Given the description of an element on the screen output the (x, y) to click on. 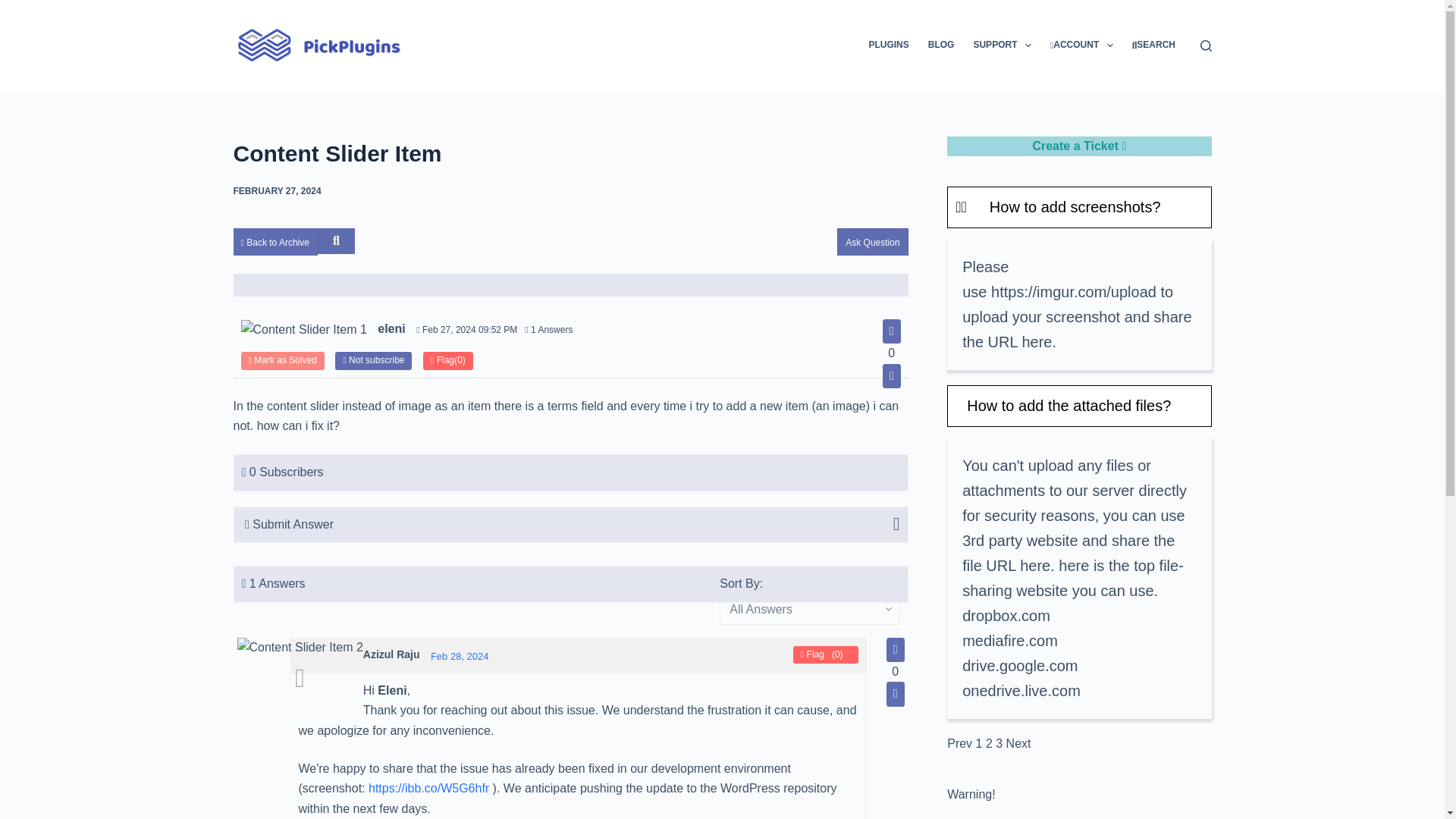
Feb 28, 2024 11:22 AM (459, 655)
Choose best answer (298, 679)
ACCOUNT (1081, 45)
Content Slider Item 1 (303, 329)
Skip to content (15, 7)
Content Slider Item (570, 153)
Content Slider Item 2 (298, 647)
